Given the description of an element on the screen output the (x, y) to click on. 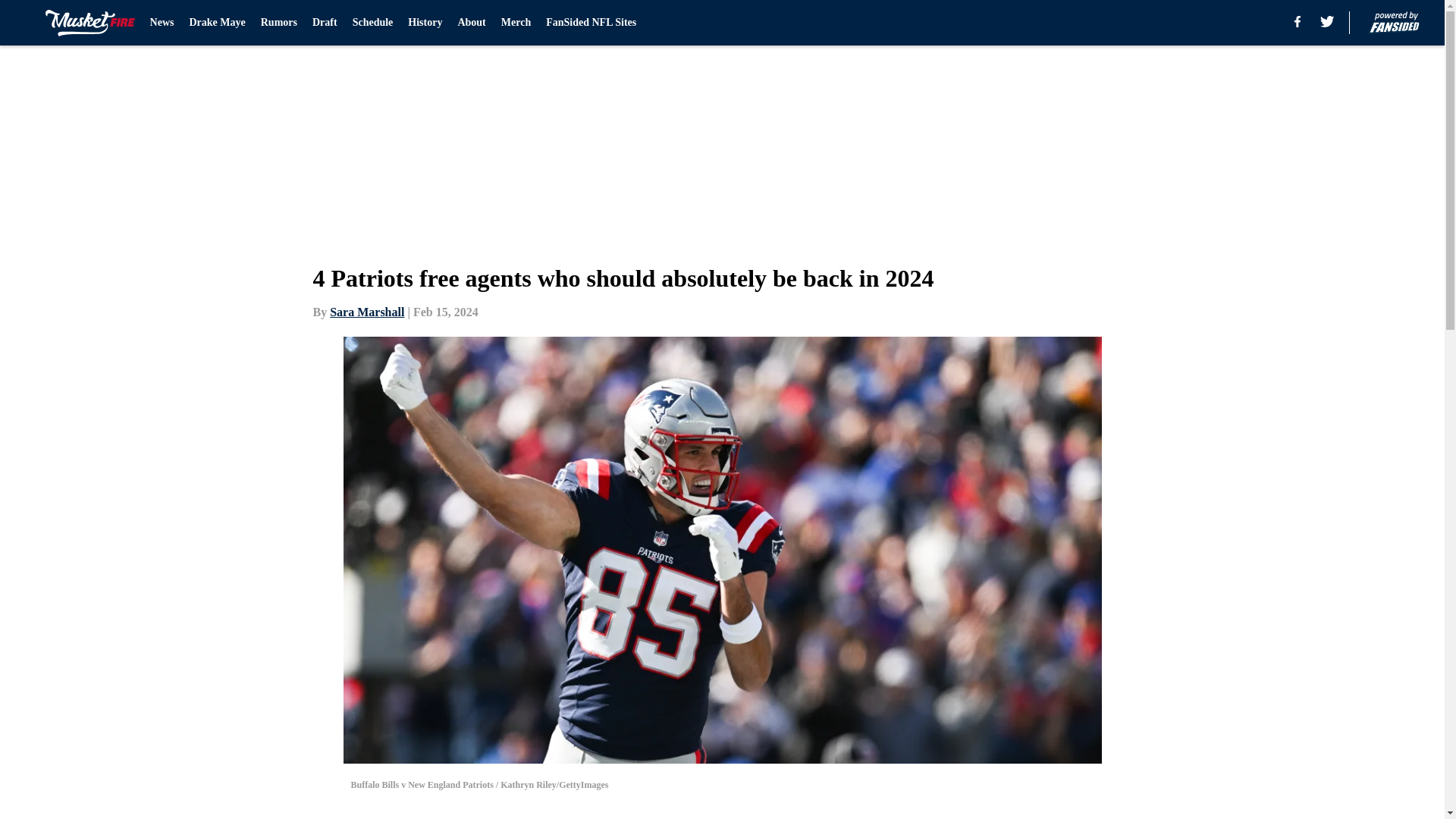
About (470, 22)
Draft (325, 22)
Schedule (372, 22)
Sara Marshall (367, 311)
Rumors (278, 22)
History (424, 22)
News (161, 22)
Drake Maye (216, 22)
FanSided NFL Sites (591, 22)
Merch (515, 22)
